Given the description of an element on the screen output the (x, y) to click on. 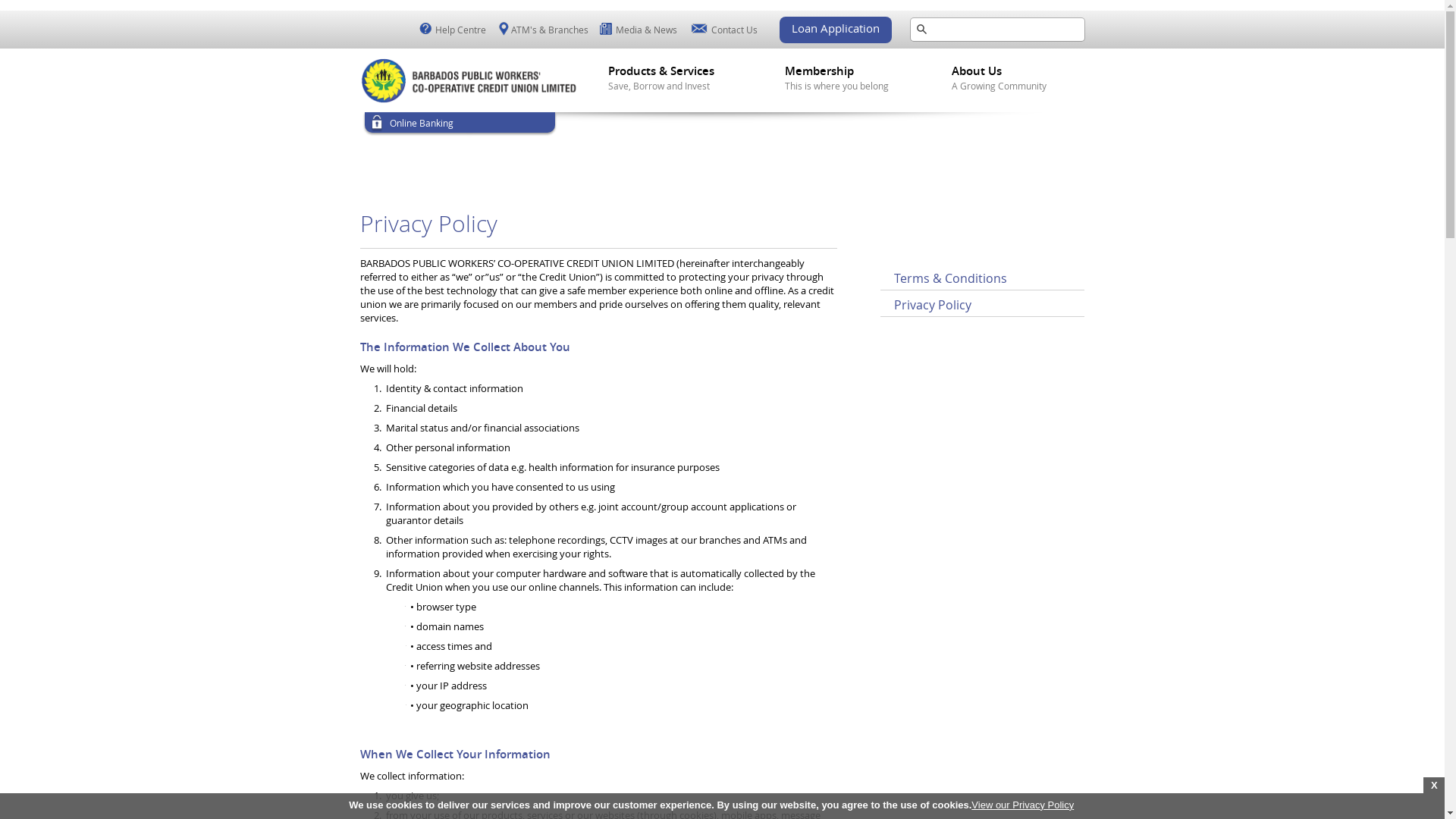
ATM's & Branches Element type: text (552, 29)
Privacy Policy Element type: text (931, 304)
Help Centre Element type: text (461, 29)
View our Privacy Policy Element type: text (1022, 804)
Media & News Element type: text (647, 29)
Membership
This is where you belong Element type: text (849, 88)
About Us
A Growing Community Element type: text (1016, 79)
Loan Application Element type: text (835, 29)
Terms & Conditions Element type: text (949, 277)
Contact Us Element type: text (735, 29)
Products & Services
Save, Borrow and Invest Element type: text (672, 86)
